Given the description of an element on the screen output the (x, y) to click on. 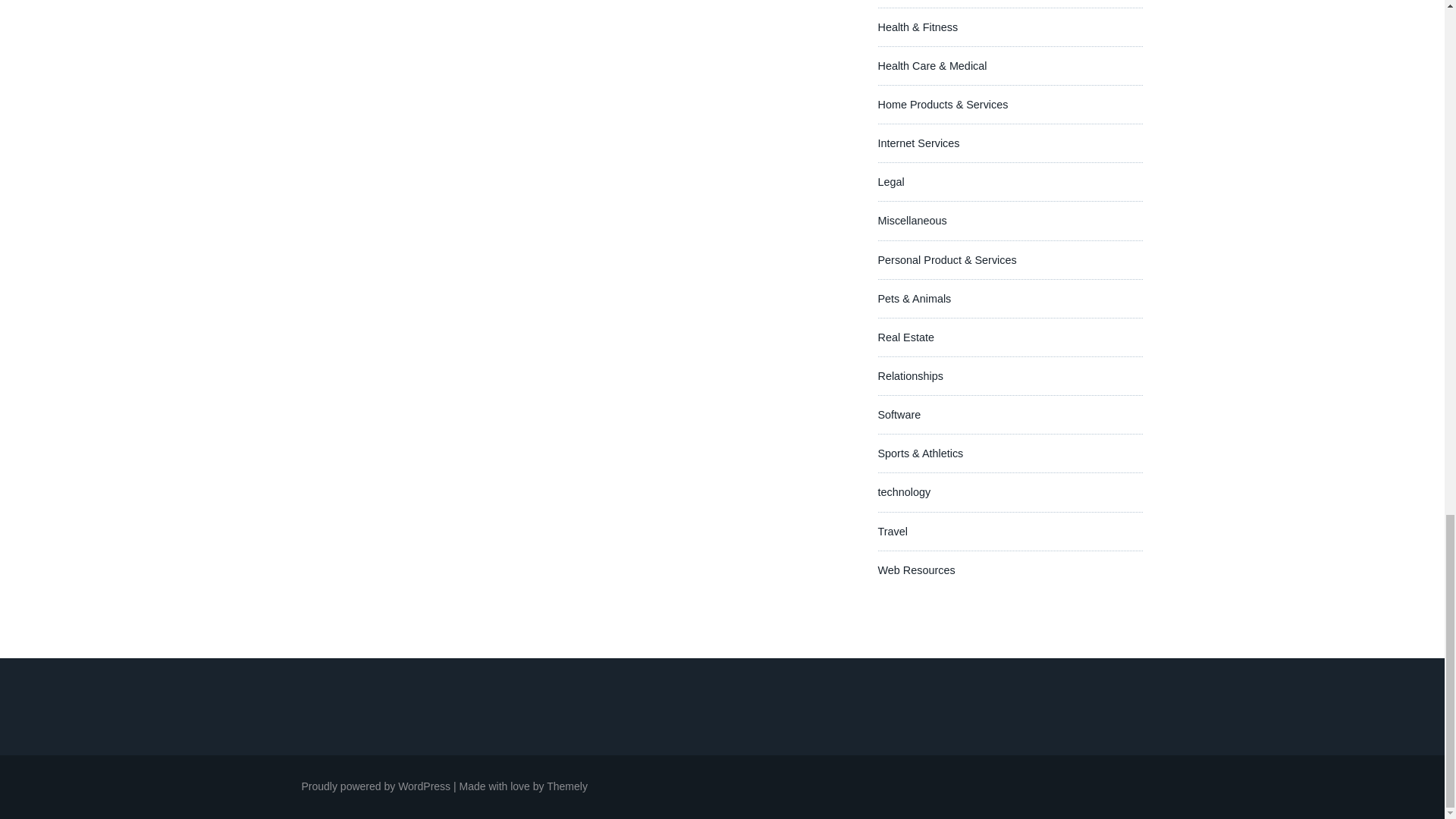
Internet Services (918, 143)
Legal (890, 182)
Miscellaneous (912, 220)
